Given the description of an element on the screen output the (x, y) to click on. 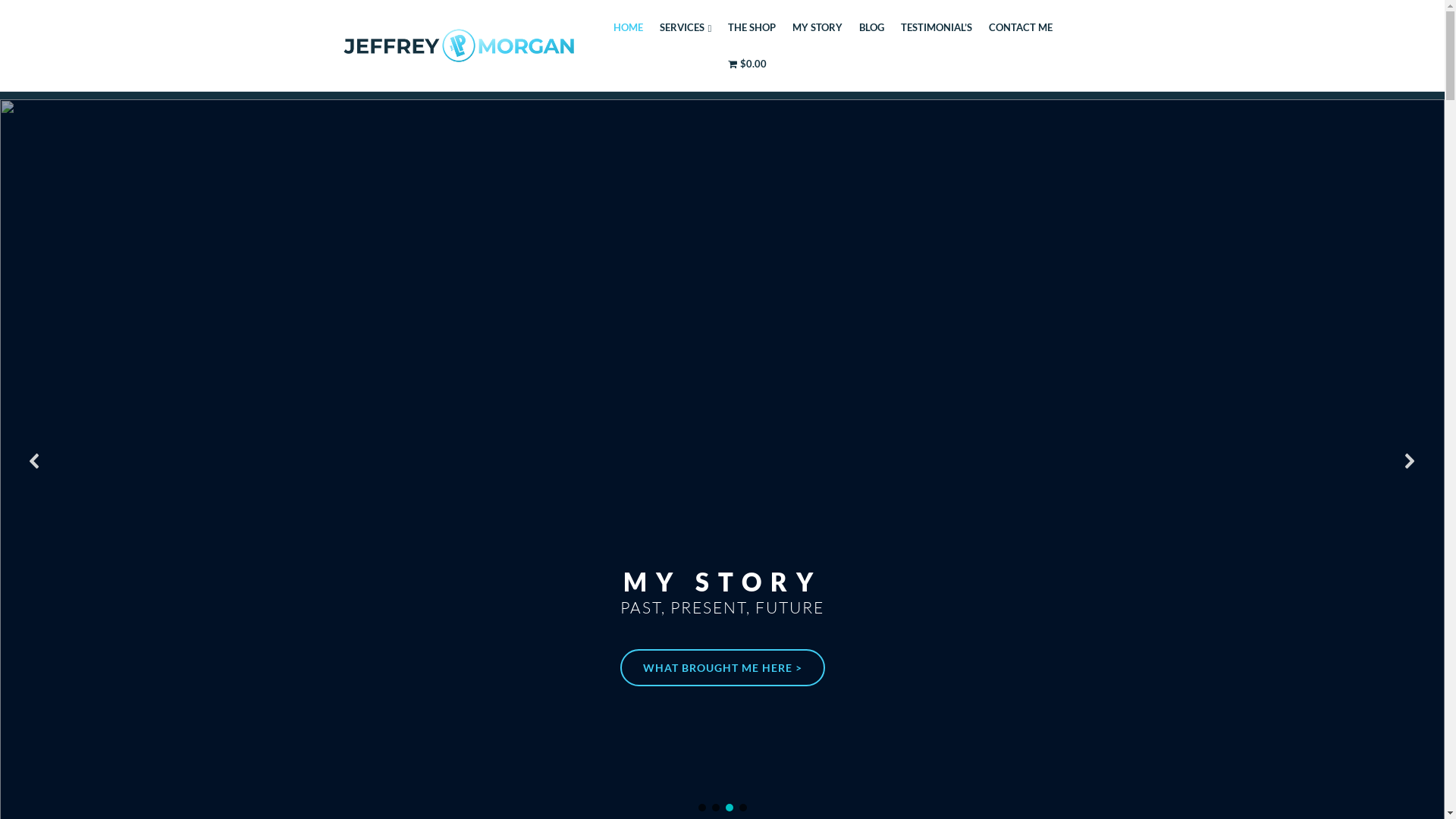
SERVICES Element type: text (684, 28)
HOME Element type: text (628, 27)
SERVICES Element type: text (725, 602)
MY STORY Element type: text (817, 27)
CONTACT ME Element type: text (1020, 27)
$0.00 Element type: text (746, 63)
THE SHOP Element type: text (751, 27)
BLOG Element type: text (871, 27)
